Given the description of an element on the screen output the (x, y) to click on. 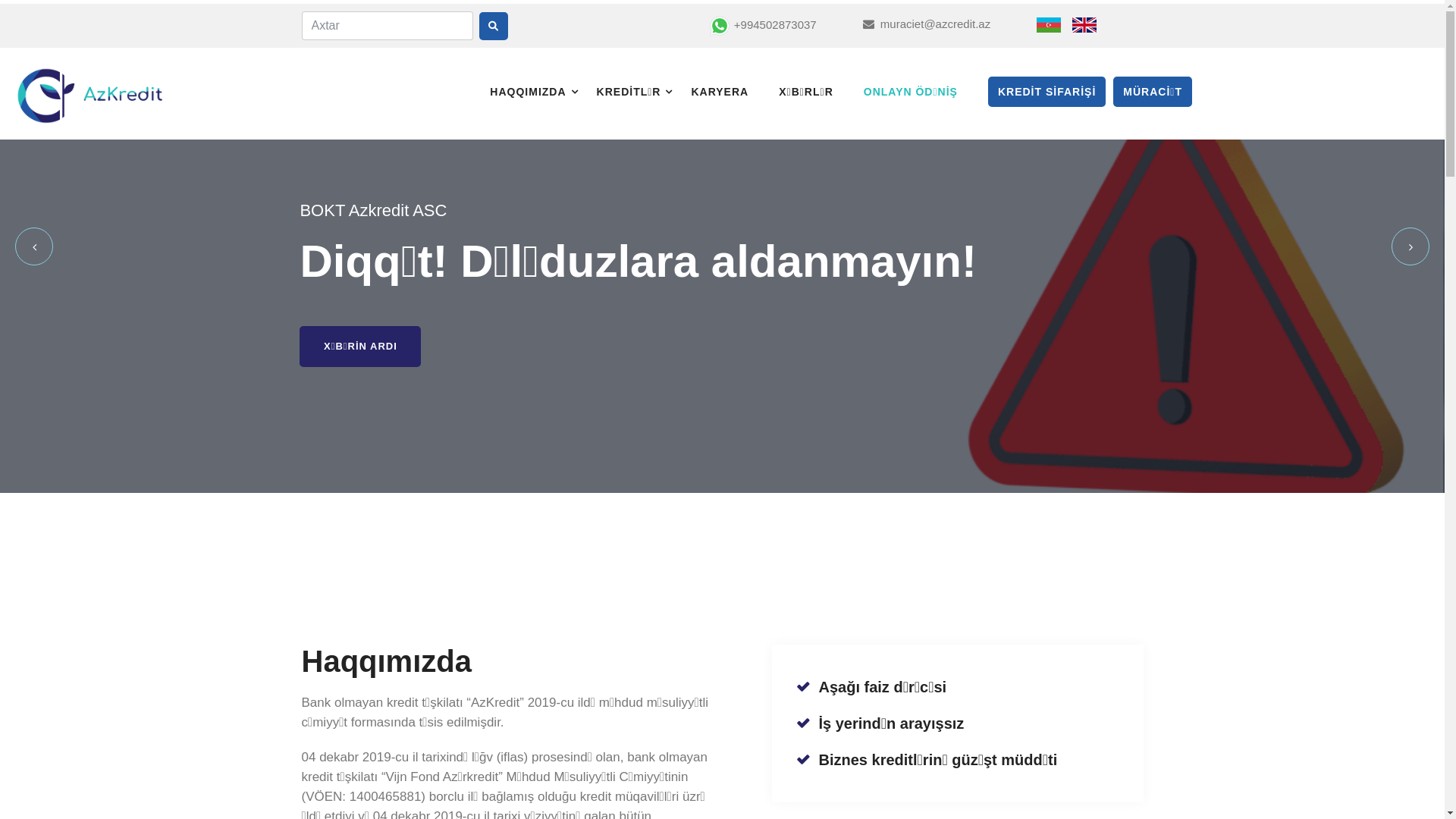
KARYERA Element type: text (730, 91)
HAQQIMIZDA Element type: text (538, 91)
